Given the description of an element on the screen output the (x, y) to click on. 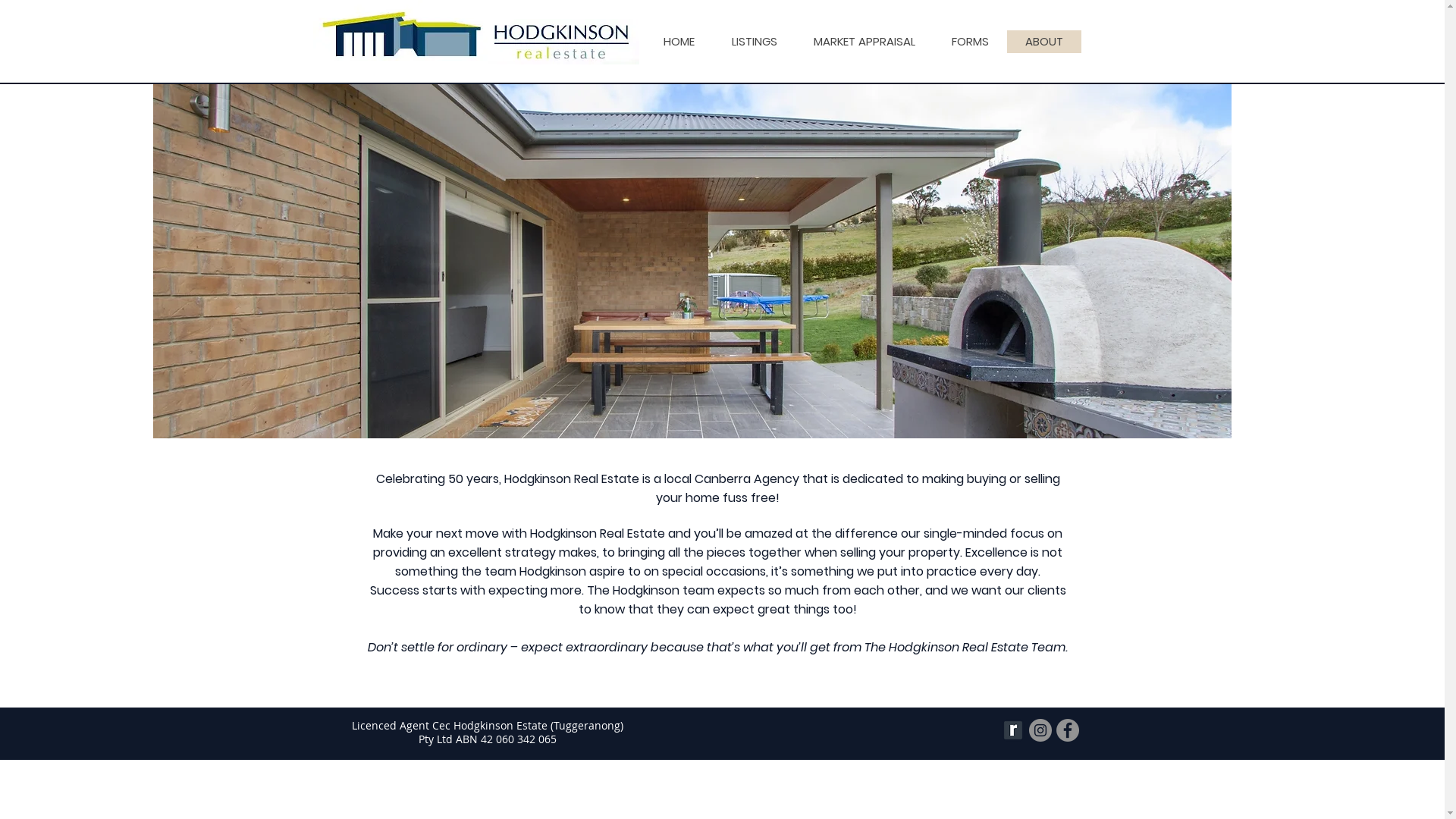
HOME Element type: text (678, 41)
ABOUT Element type: text (1044, 41)
MARKET APPRAISAL Element type: text (863, 41)
LISTINGS Element type: text (753, 41)
Capture.JPG Element type: hover (562, 41)
FORMS Element type: text (969, 41)
